Given the description of an element on the screen output the (x, y) to click on. 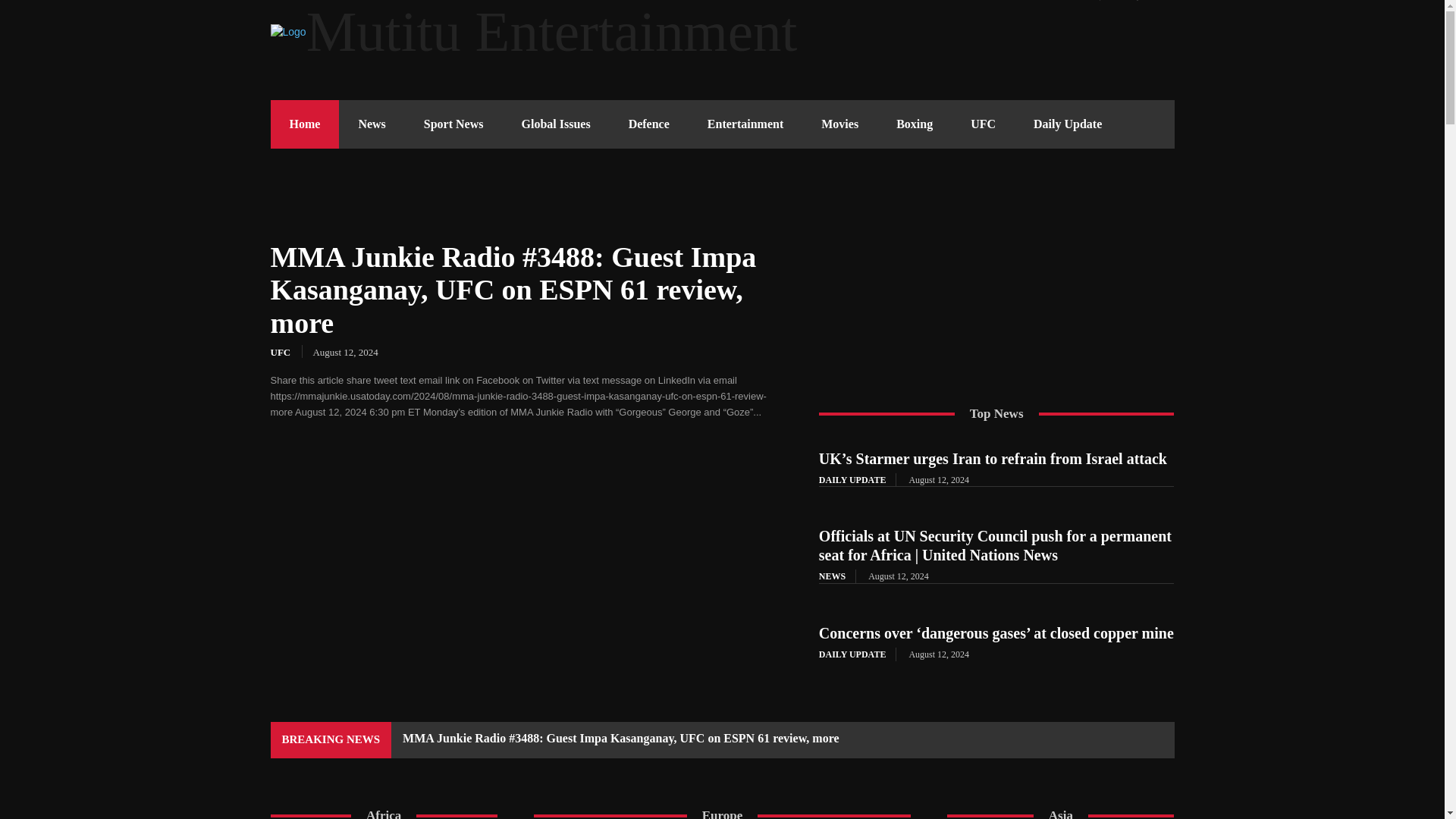
Home (304, 123)
Mutitu Entertainment (721, 31)
Sport News (453, 123)
Defence (649, 123)
UFC (983, 123)
Movies (839, 123)
Boxing (914, 123)
Global Issues (555, 123)
Entertainment (745, 123)
News (371, 123)
